Given the description of an element on the screen output the (x, y) to click on. 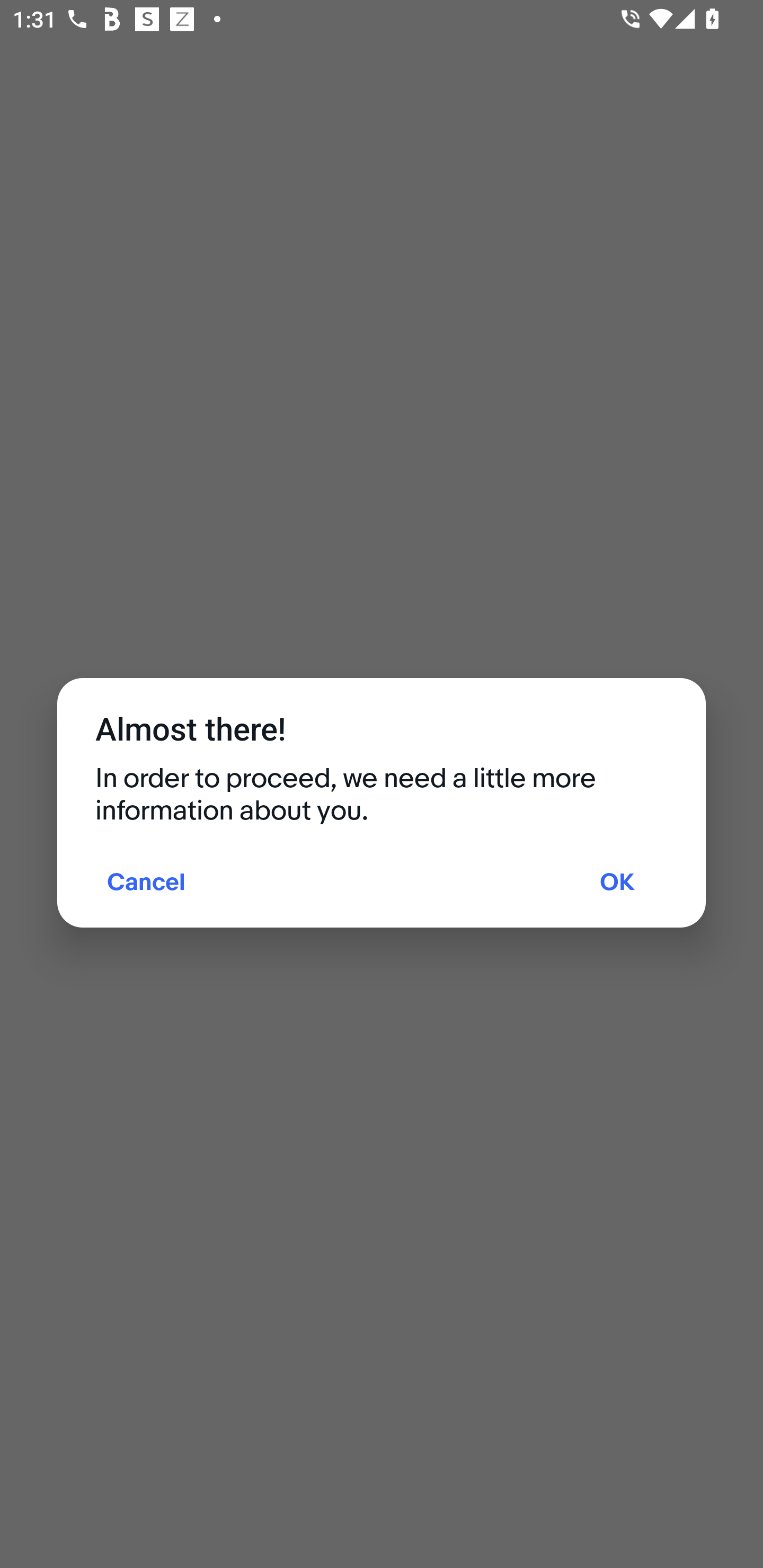
Cancel (145, 883)
OK (616, 883)
